Given the description of an element on the screen output the (x, y) to click on. 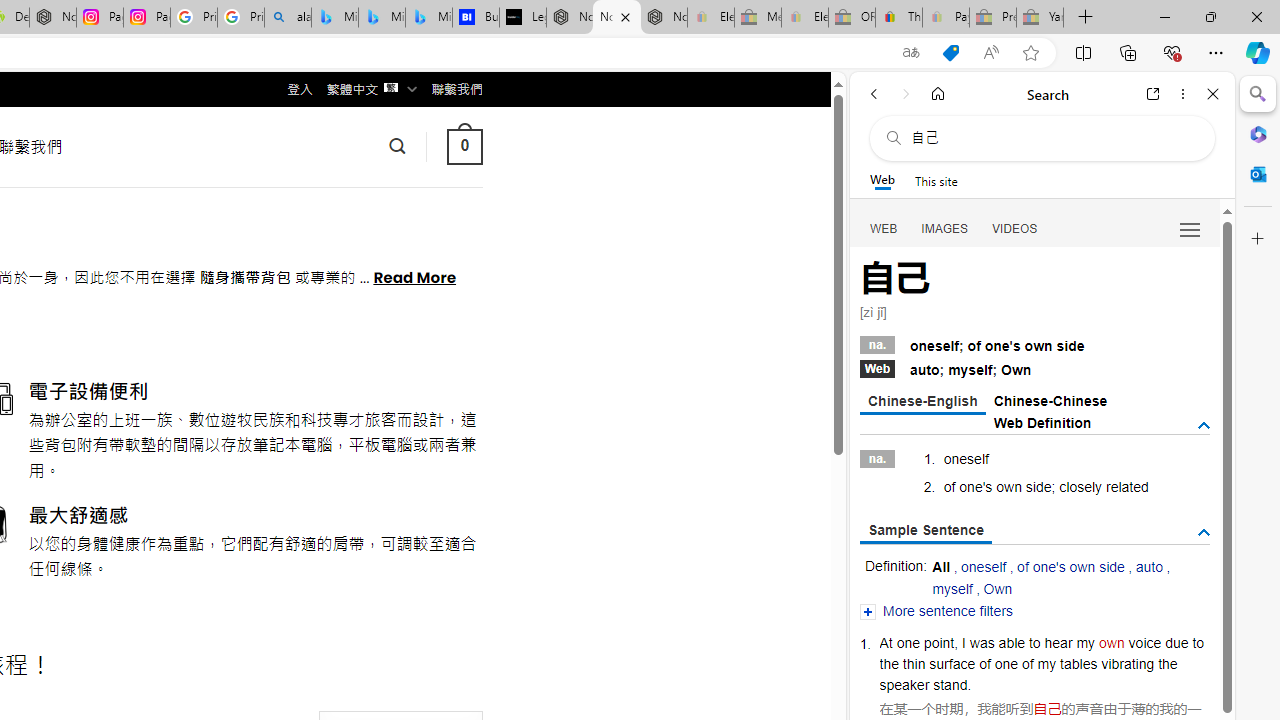
Threats and offensive language policy | eBay (898, 17)
  0   (464, 146)
voice (1144, 642)
auto (1149, 566)
Press Room - eBay Inc. - Sleeping (993, 17)
Own (997, 588)
